Given the description of an element on the screen output the (x, y) to click on. 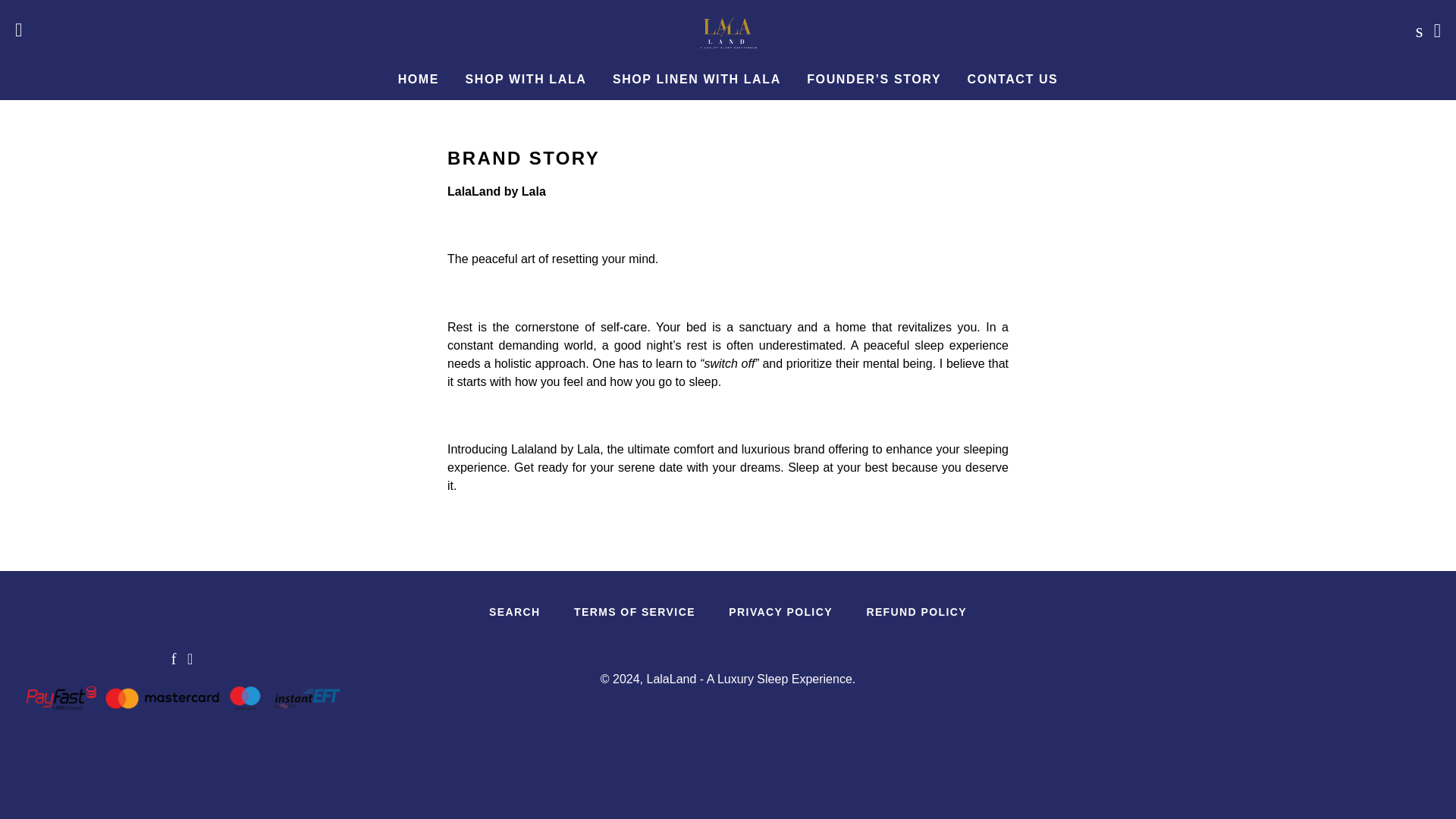
CONTACT US (1013, 79)
TERMS OF SERVICE (634, 612)
SHOP WITH LALA (526, 79)
REFUND POLICY (915, 612)
HOME (418, 79)
LalaLand - A Luxury Sleep Experience (748, 678)
SEARCH (515, 612)
SHOP LINEN WITH LALA (696, 79)
PRIVACY POLICY (780, 612)
